Given the description of an element on the screen output the (x, y) to click on. 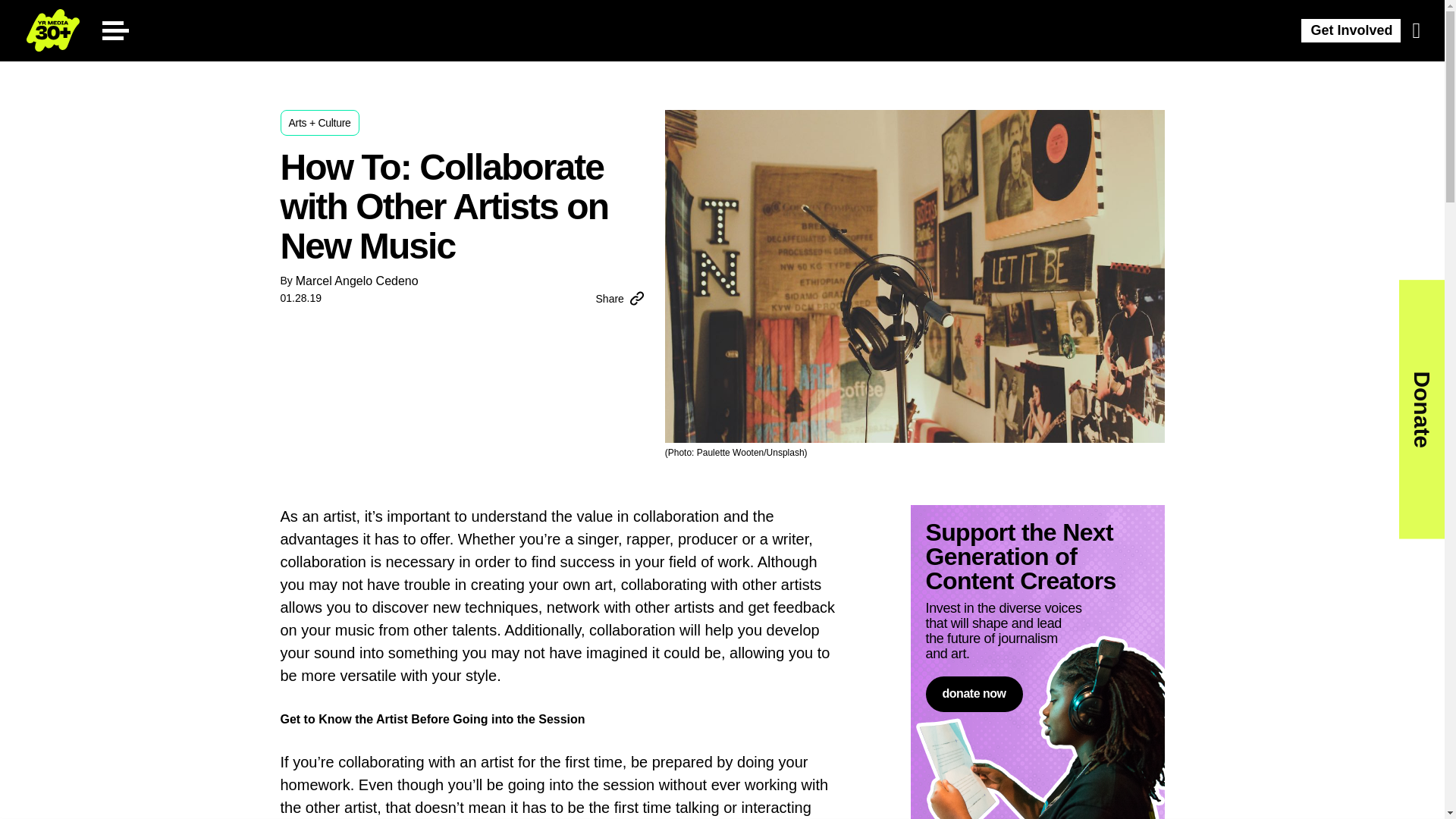
Get Involved (1350, 30)
Marcel Angelo Cedeno (357, 280)
donate now (973, 693)
